Given the description of an element on the screen output the (x, y) to click on. 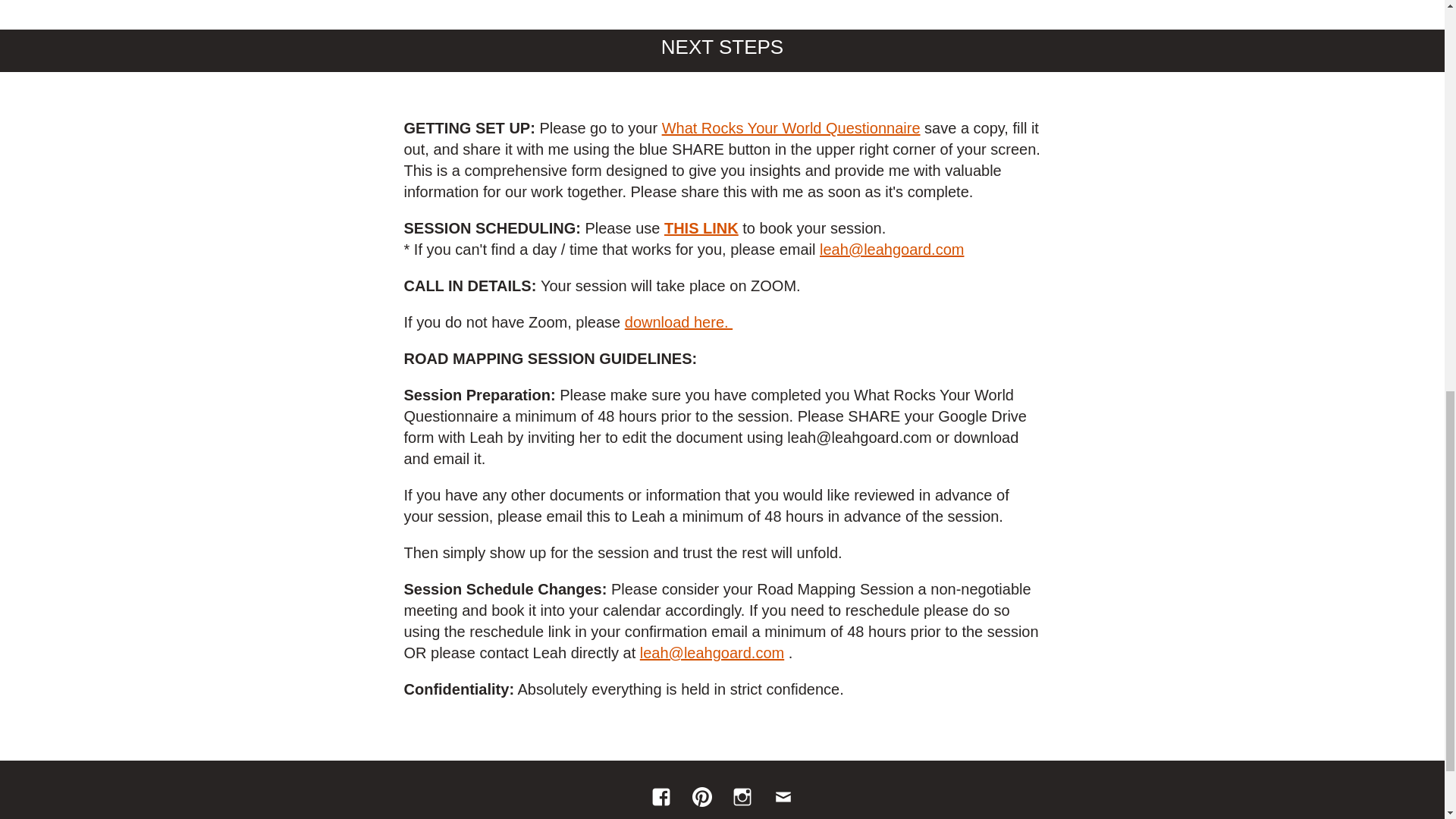
THIS LINK (700, 228)
What Rocks Your World Questionnaire (791, 127)
download here.  (678, 321)
